Given the description of an element on the screen output the (x, y) to click on. 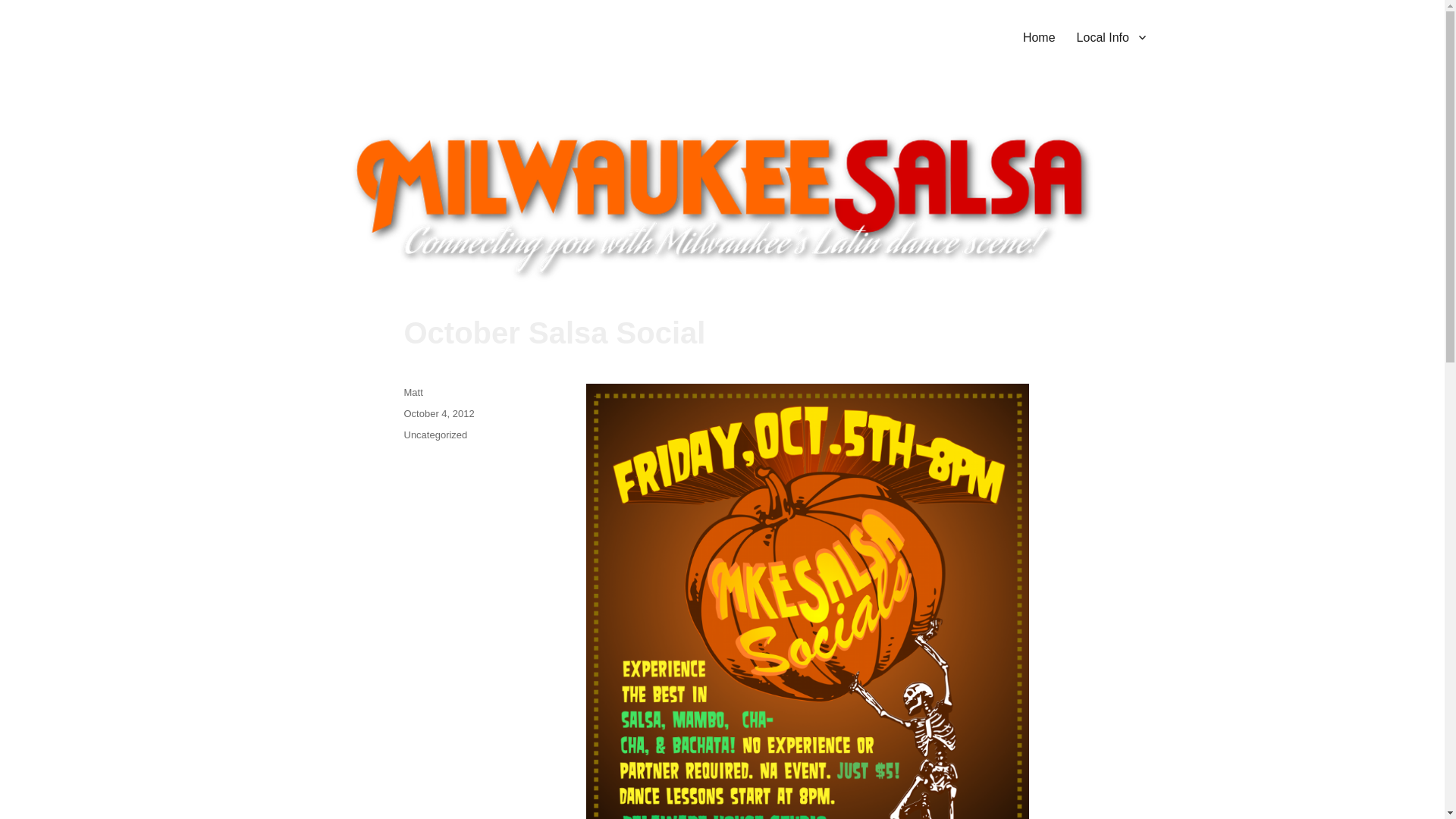
Home (1038, 37)
Milwaukee Salsa (381, 33)
Matt (412, 392)
Local Info (1110, 37)
Uncategorized (435, 434)
October 4, 2012 (438, 413)
